Given the description of an element on the screen output the (x, y) to click on. 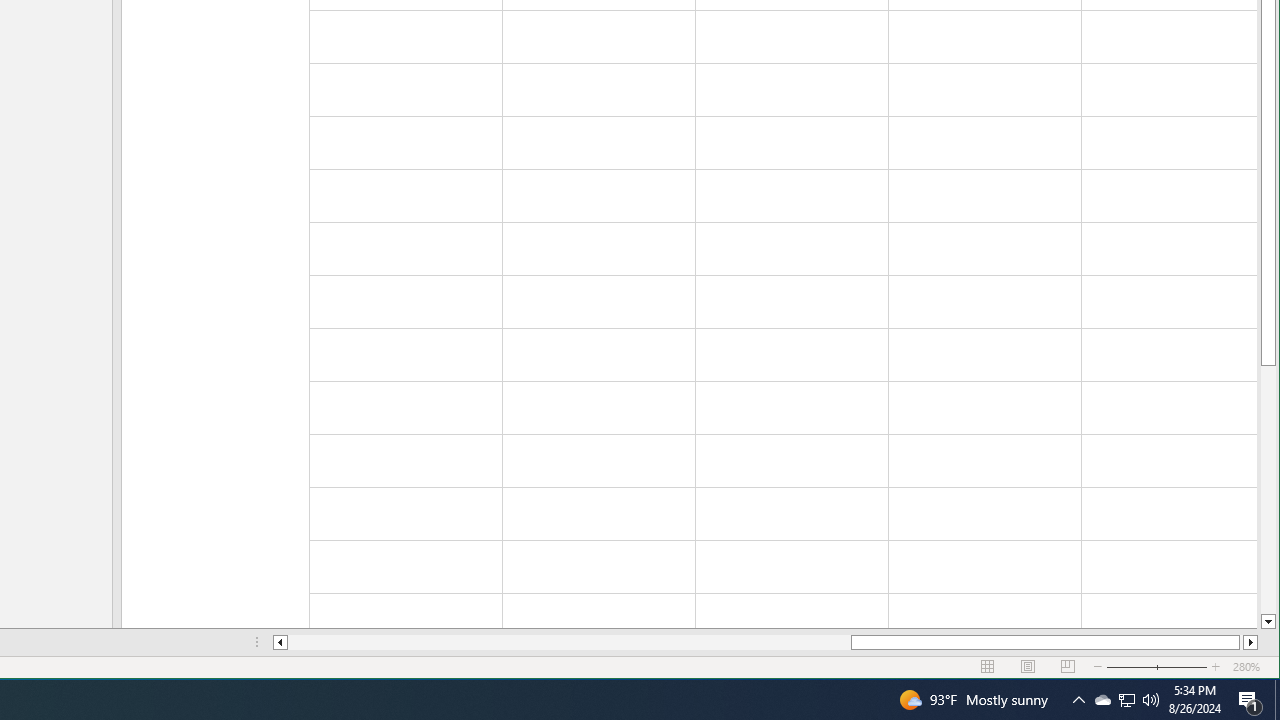
User Promoted Notification Area (1126, 699)
Show desktop (1277, 699)
